Given the description of an element on the screen output the (x, y) to click on. 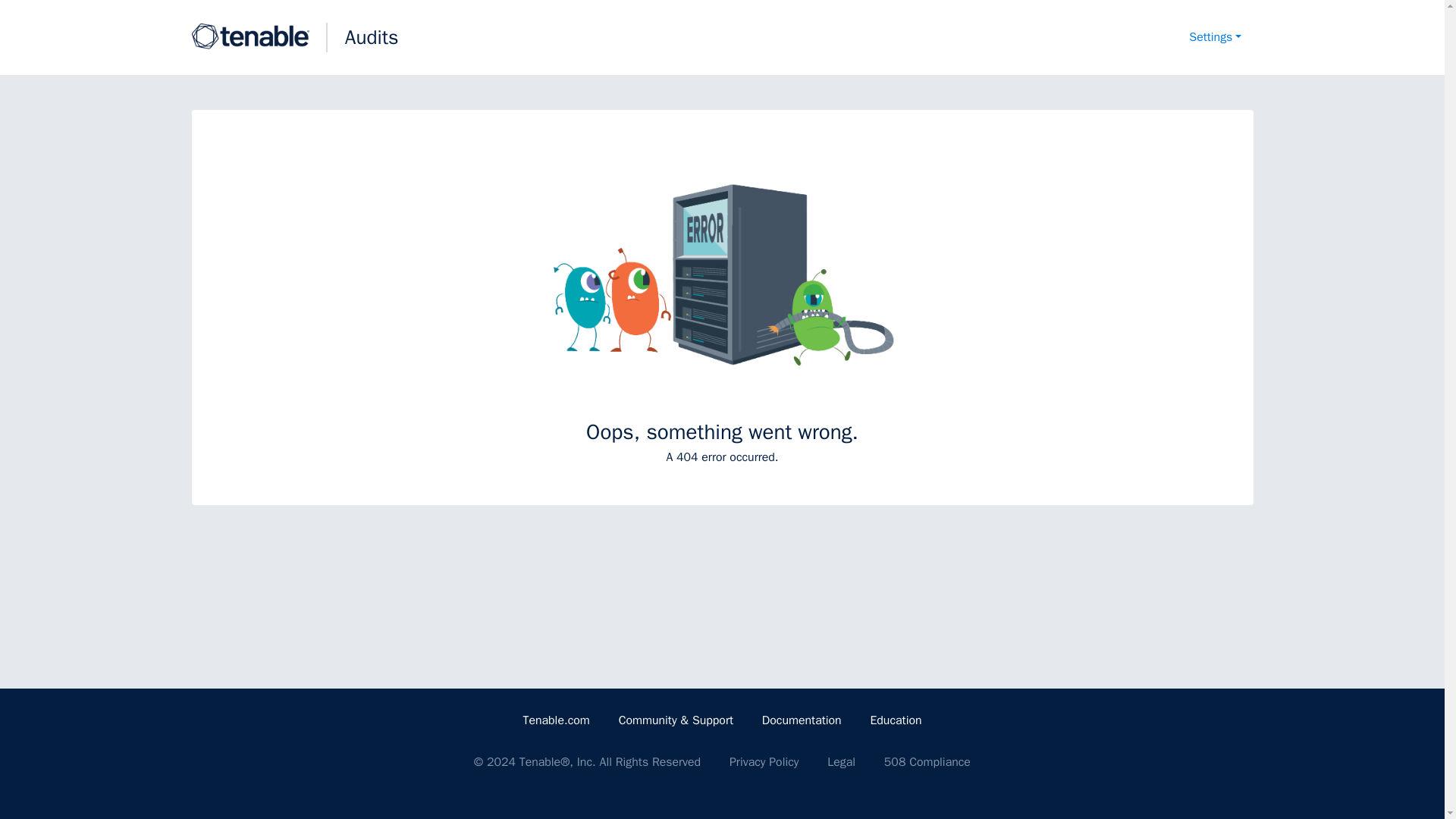
Audits (371, 37)
Settings (1214, 37)
